Given the description of an element on the screen output the (x, y) to click on. 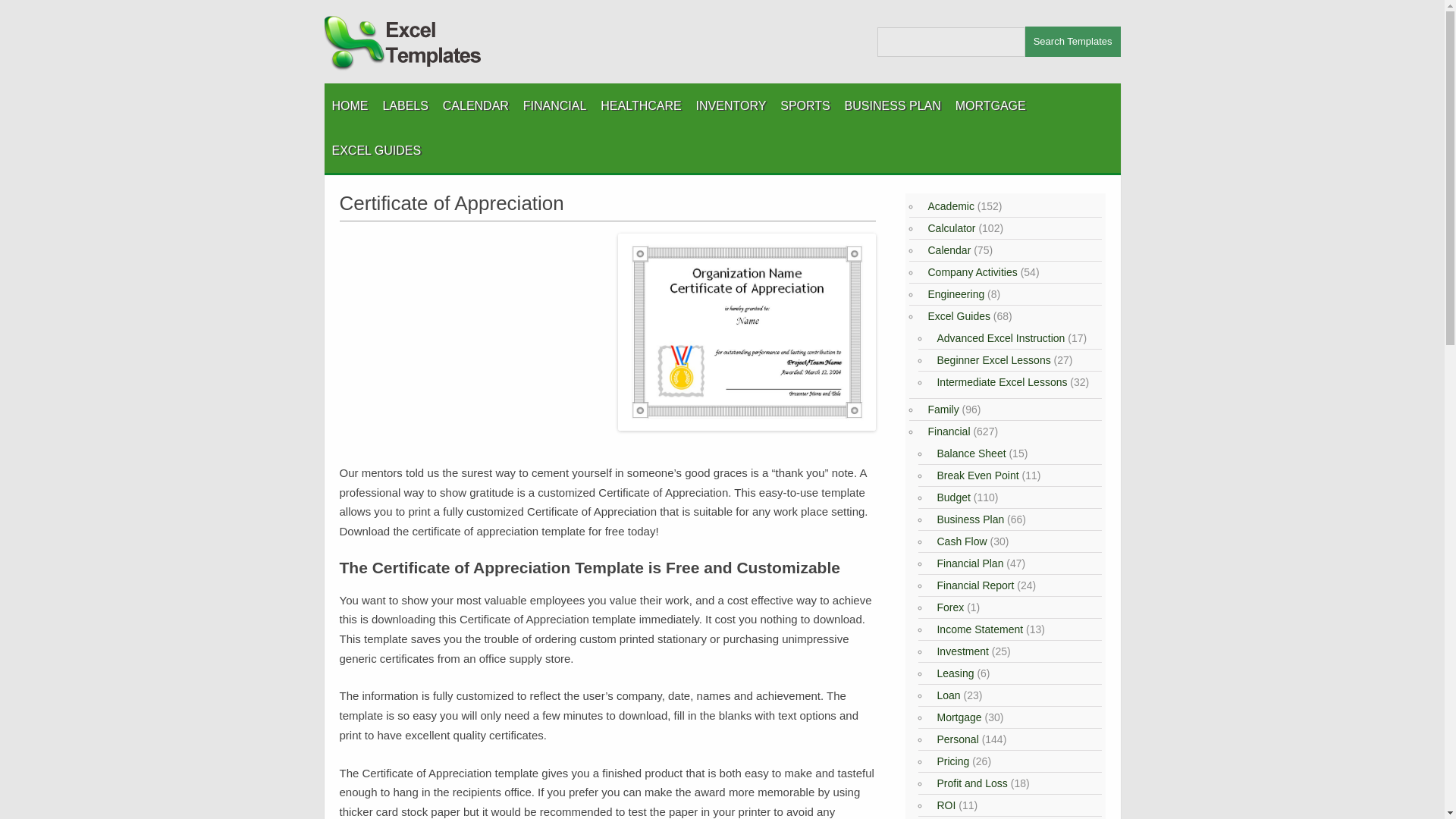
SPORTS (804, 105)
Intermediate Excel Lessons (1000, 381)
Company Activities (969, 272)
Beginner Excel Lessons (991, 359)
Balance Sheet (969, 453)
Financial (946, 431)
Academic (948, 205)
HEALTHCARE (640, 105)
Calendar (947, 250)
Budget (951, 497)
LABELS (404, 105)
Advanced Excel Instruction (998, 337)
Search Templates (1073, 41)
